Given the description of an element on the screen output the (x, y) to click on. 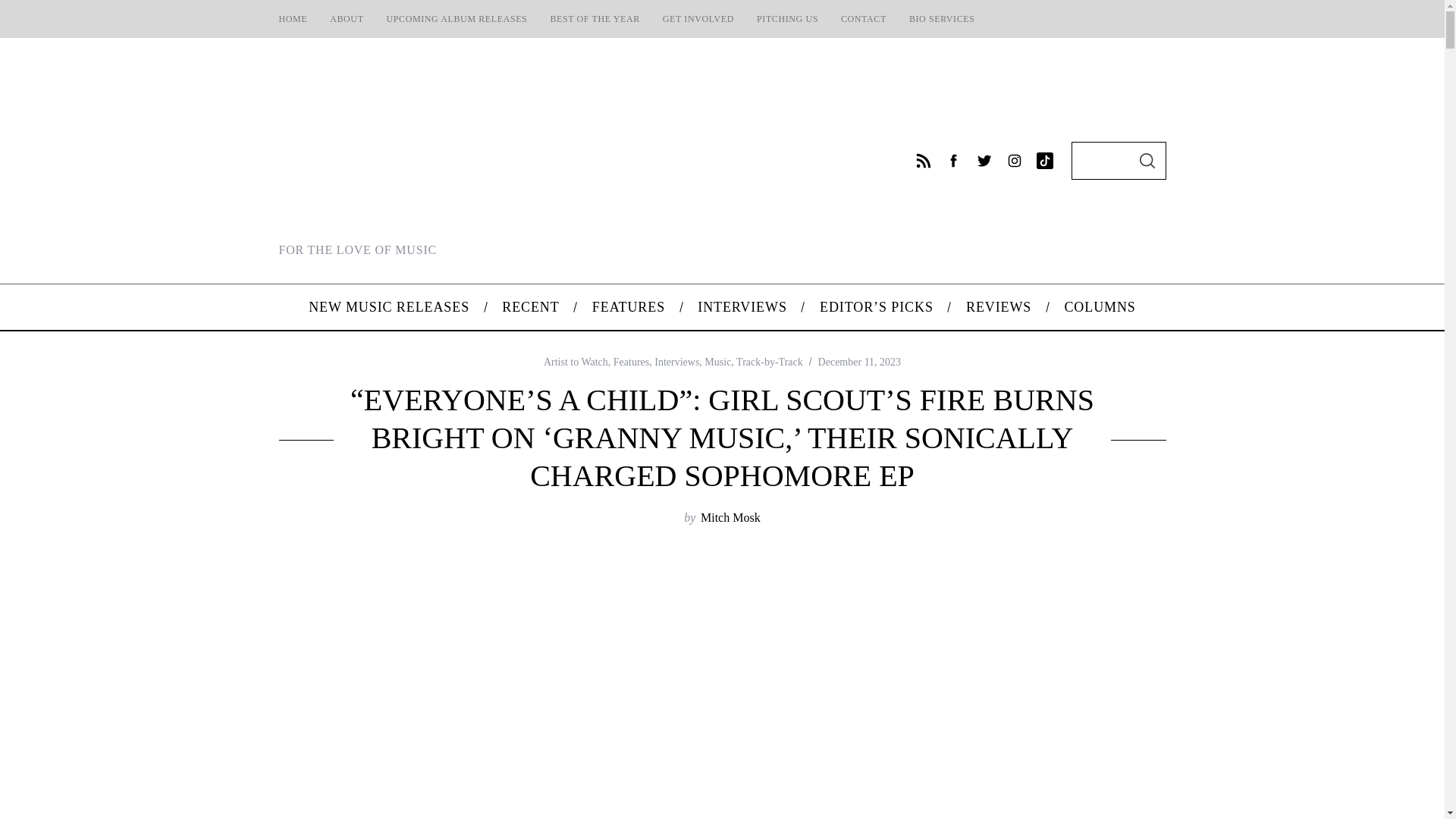
Music (717, 361)
FEATURES (628, 307)
Artist to Watch (575, 361)
RECENT (531, 307)
INTERVIEWS (742, 307)
NEW MUSIC RELEASES (389, 307)
GET INVOLVED (697, 18)
CONTACT (863, 18)
Interviews (675, 361)
BEST OF THE YEAR (594, 18)
